Given the description of an element on the screen output the (x, y) to click on. 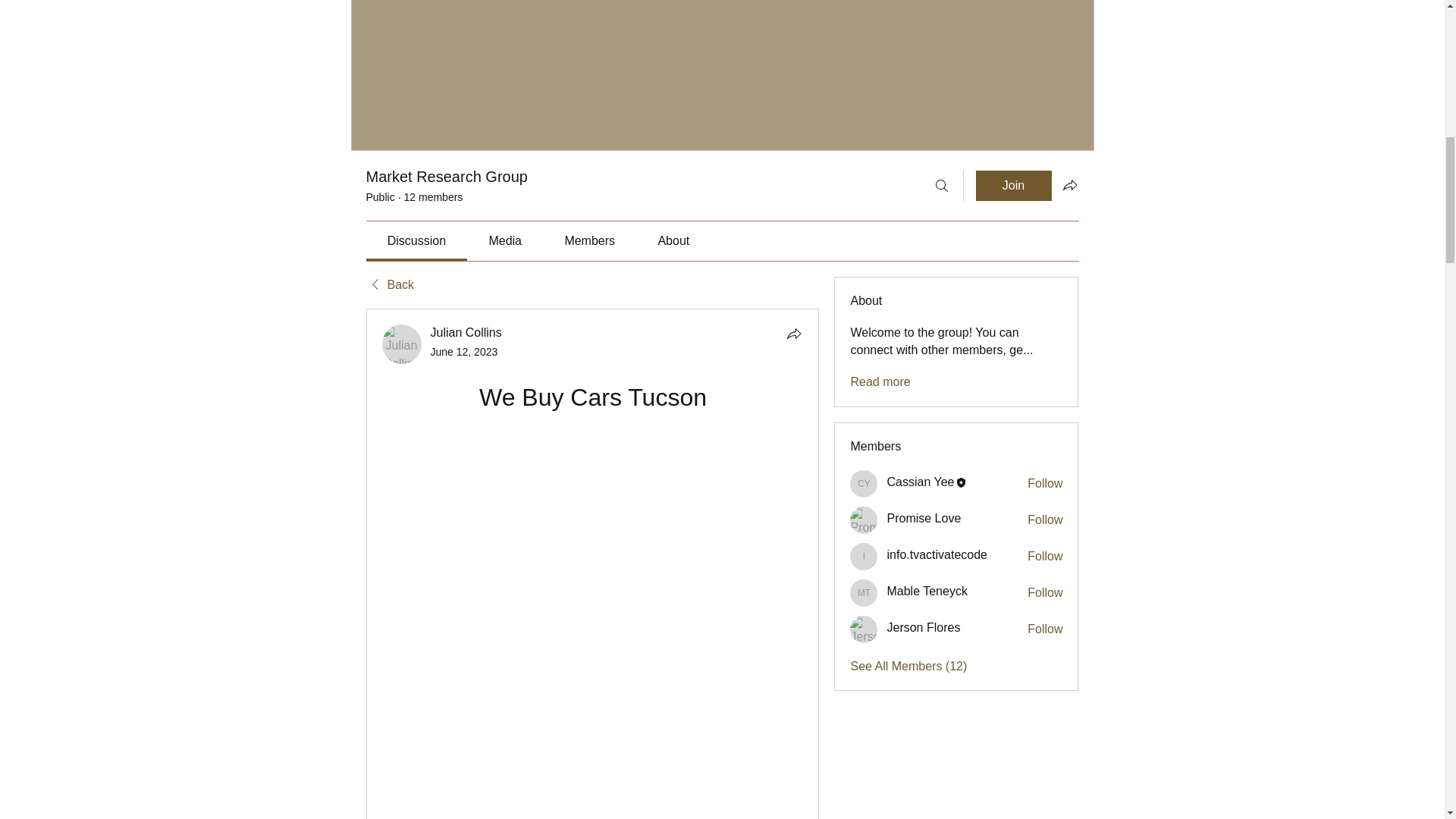
Join (1013, 185)
Follow (1044, 483)
info.tvactivatecode (936, 554)
Cassian Yee (919, 481)
info.tvactivatecode (863, 556)
June 12, 2023 (463, 351)
Follow (1044, 592)
Julian Collins (401, 343)
Julian Collins (466, 332)
Promise Love (923, 517)
Jerson Flores (863, 628)
Mable Teneyck (926, 590)
Read more (880, 381)
Mable Teneyck (863, 592)
Back (389, 284)
